Given the description of an element on the screen output the (x, y) to click on. 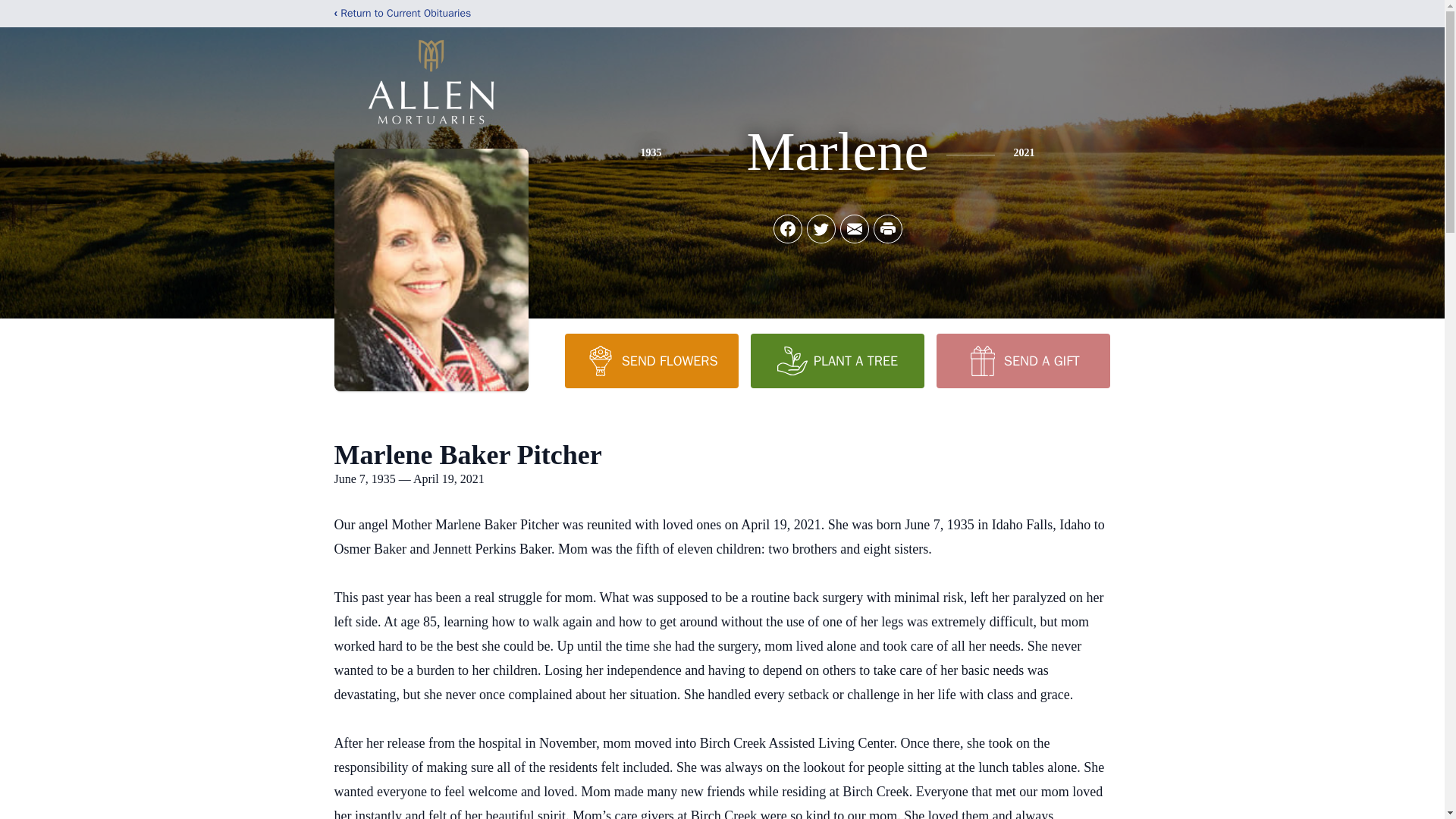
SEND A GIFT (1022, 360)
PLANT A TREE (837, 360)
SEND FLOWERS (651, 360)
